Given the description of an element on the screen output the (x, y) to click on. 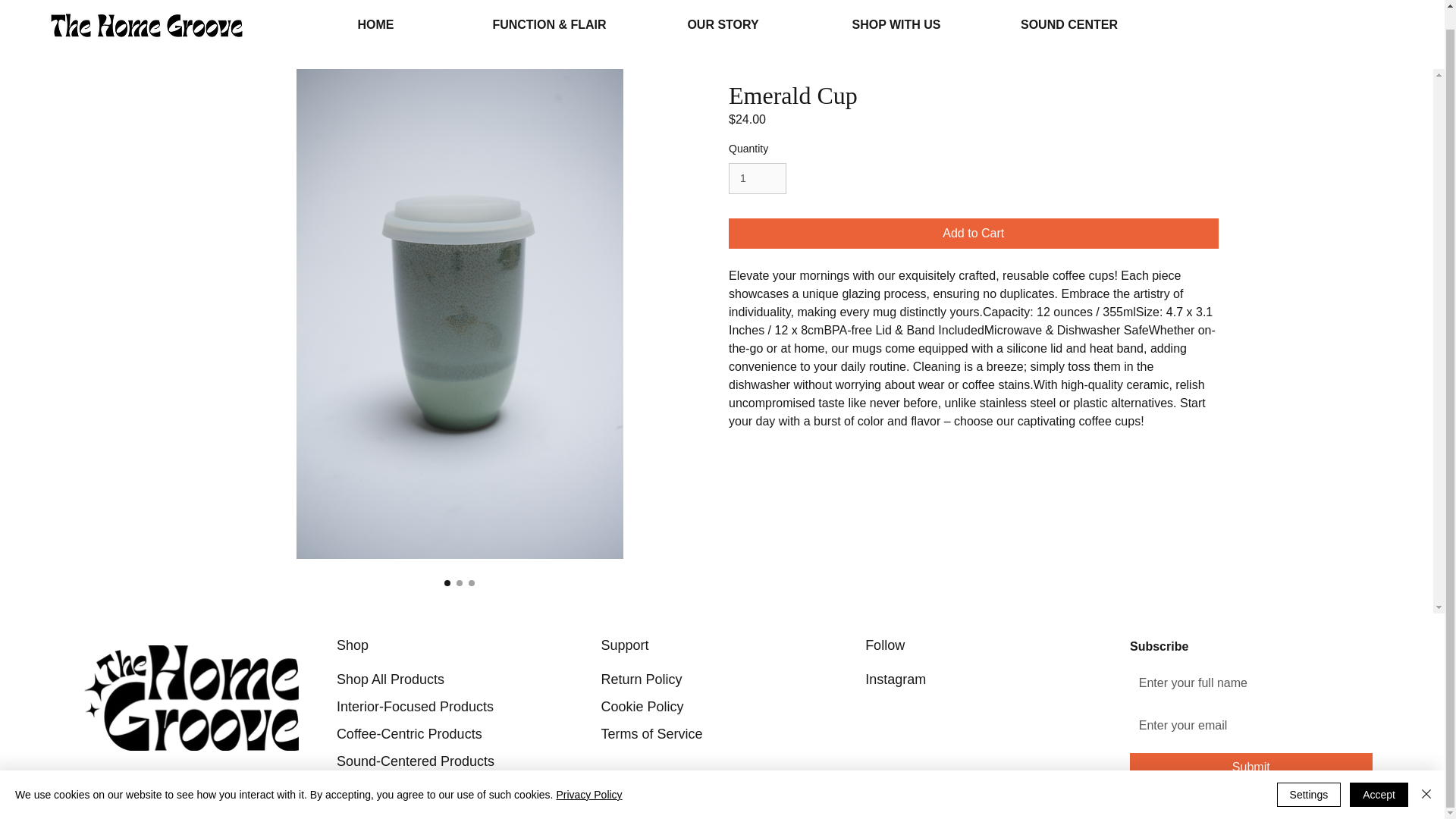
SHOP WITH US (895, 34)
1 (757, 178)
Cookie Policy (640, 705)
Terms of Service (650, 733)
Instagram (895, 678)
Shop All Products (390, 678)
Interior-Focused Products (414, 705)
Submit (1251, 767)
Coffee-Centric Products (408, 733)
Add to Cart (973, 233)
HOME (375, 34)
Sound-Centered Products (415, 760)
Return Policy (640, 678)
